Given the description of an element on the screen output the (x, y) to click on. 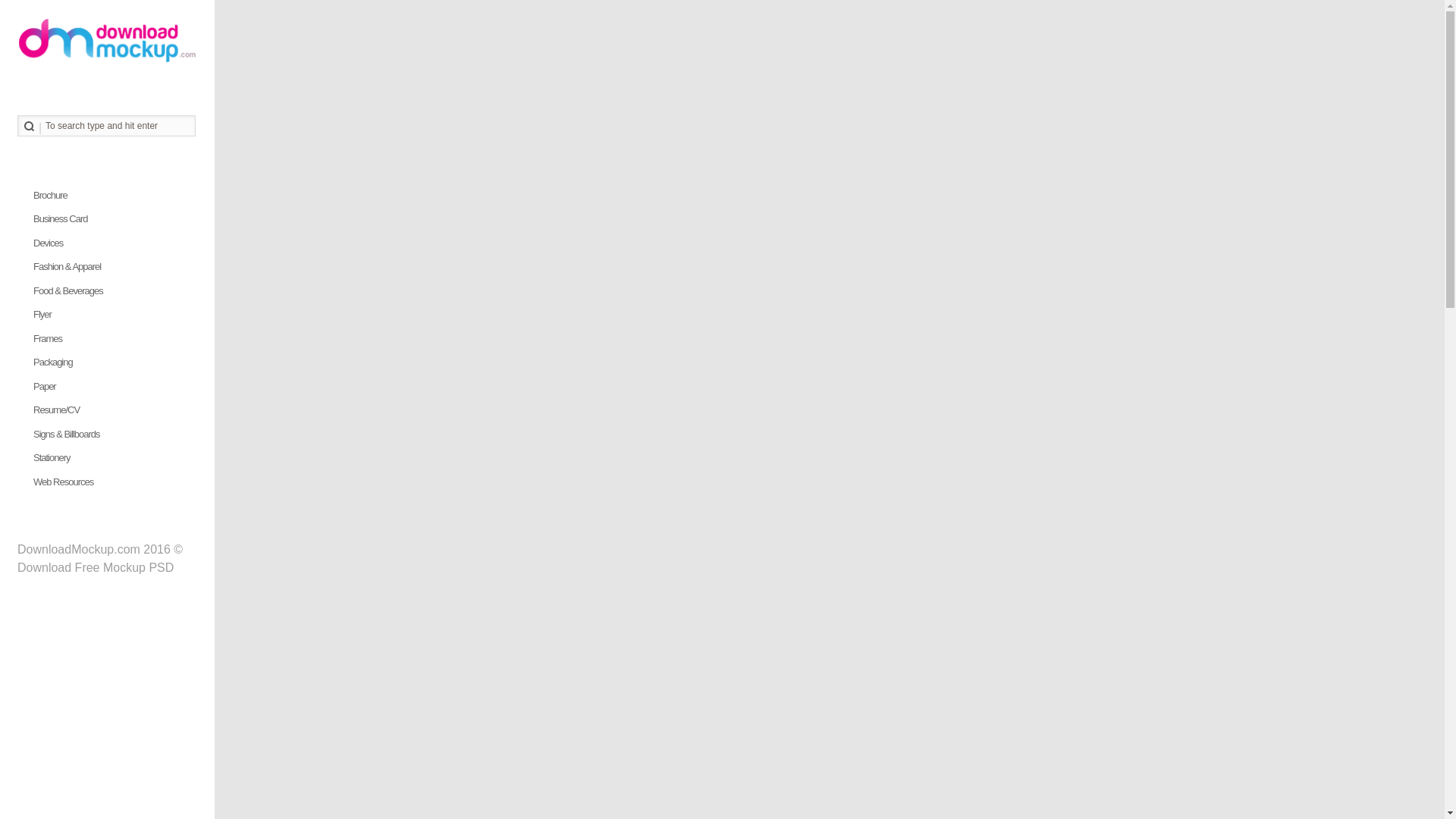
Search (28, 126)
